Given the description of an element on the screen output the (x, y) to click on. 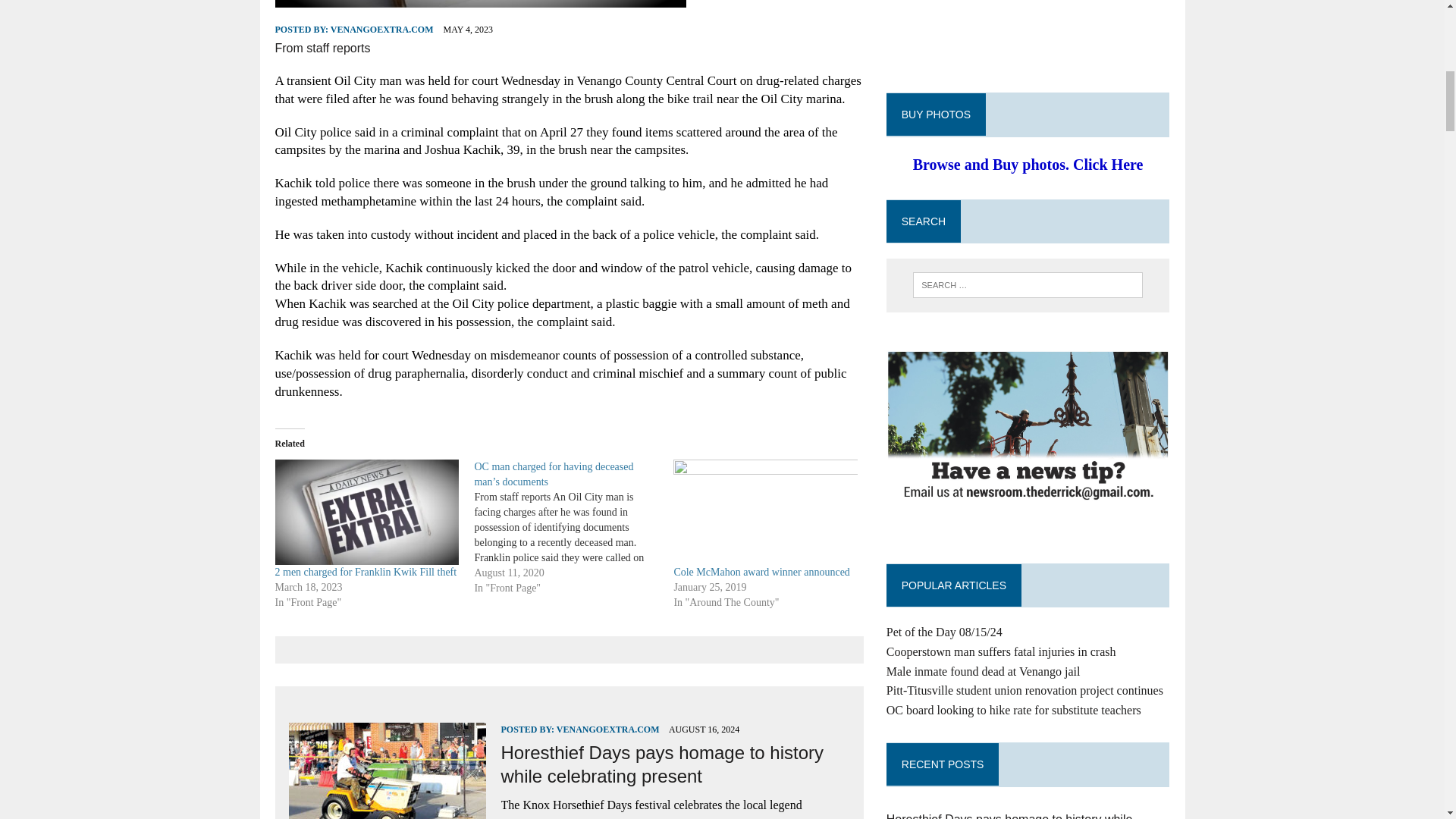
2 men charged for Franklin Kwik Fill theft (366, 572)
Cole McMahon award winner announced (760, 572)
Cole McMahon award winner announced (764, 512)
2 men charged for Franklin Kwik Fill theft (366, 512)
